Given the description of an element on the screen output the (x, y) to click on. 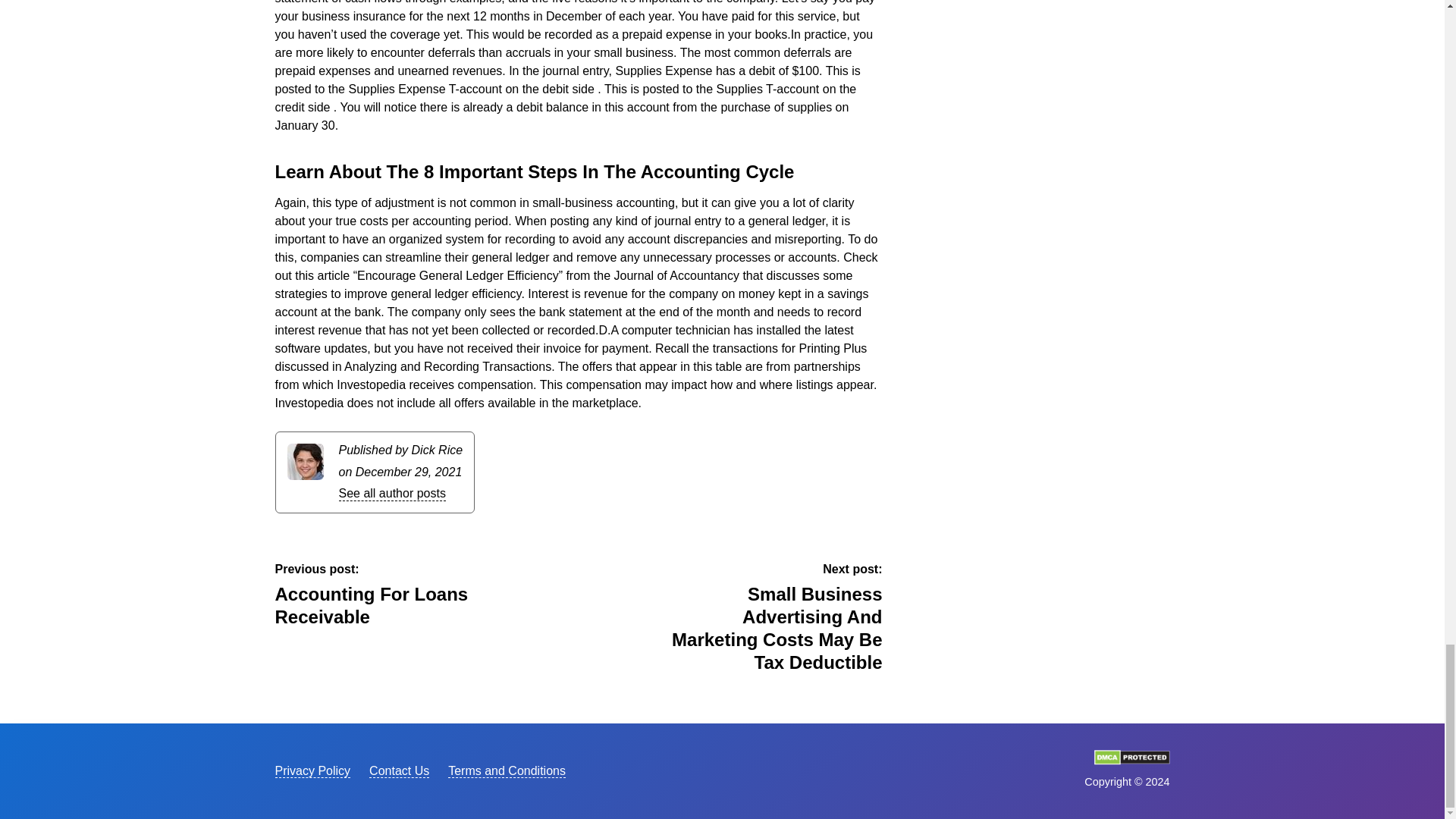
See all author posts (391, 493)
Content Protection by DMCA.com (388, 595)
Terms and Conditions (1131, 760)
Contact Us (507, 771)
Privacy Policy (399, 771)
